Given the description of an element on the screen output the (x, y) to click on. 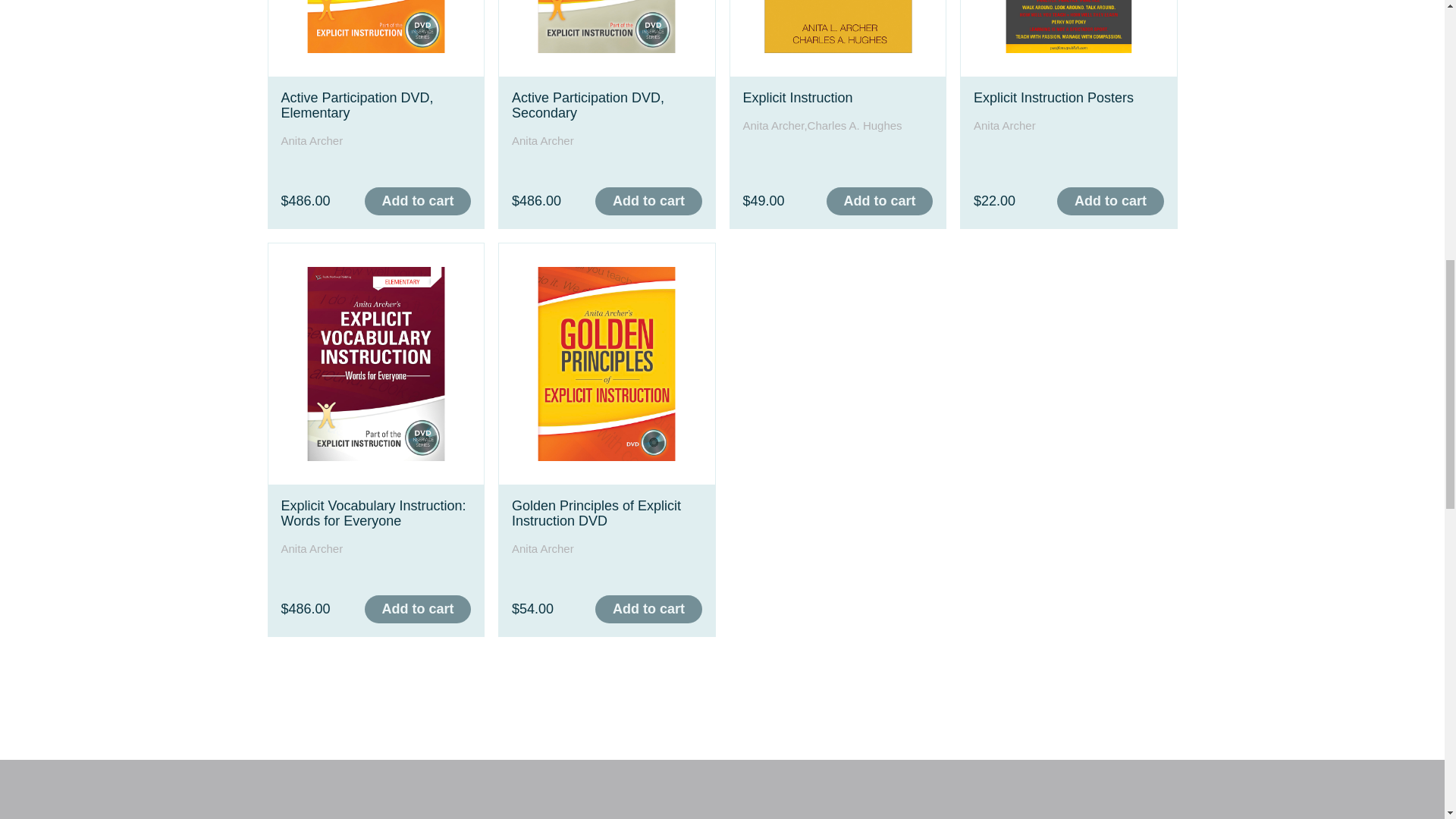
Explicit Instruction (797, 97)
Add to cart (648, 201)
Active Participation DVD, Secondary (587, 105)
Active Participation DVD, Elementary (356, 105)
Add to cart (417, 201)
Add to cart (880, 201)
